Given the description of an element on the screen output the (x, y) to click on. 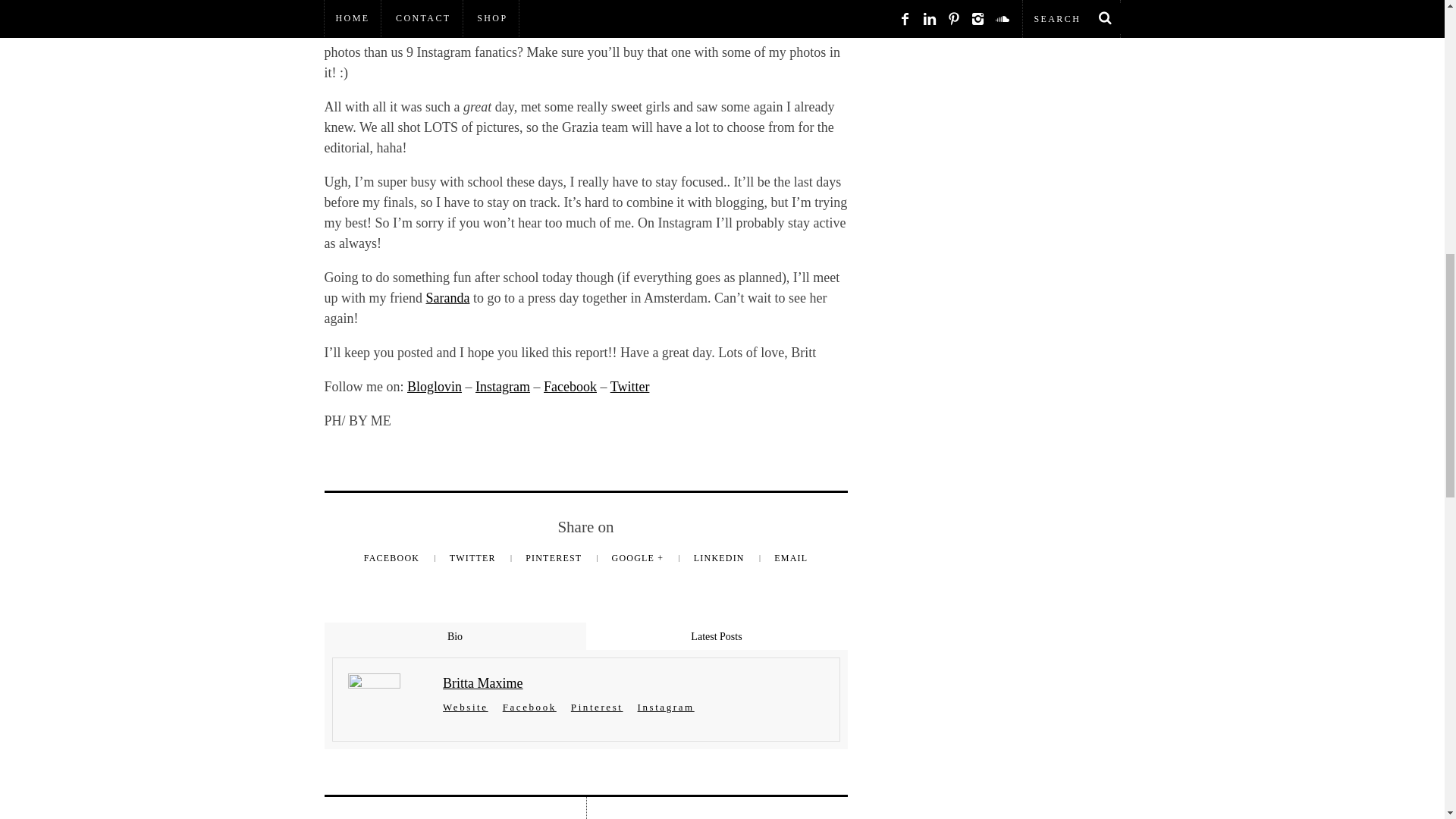
PINTEREST (555, 557)
Bloglovin' (434, 386)
FACEBOOK (393, 557)
Twitter (629, 386)
Latest Posts (716, 636)
Instagram (502, 386)
Twitter (629, 386)
Saranda (446, 297)
TWITTER (474, 557)
Instagram (502, 386)
